Given the description of an element on the screen output the (x, y) to click on. 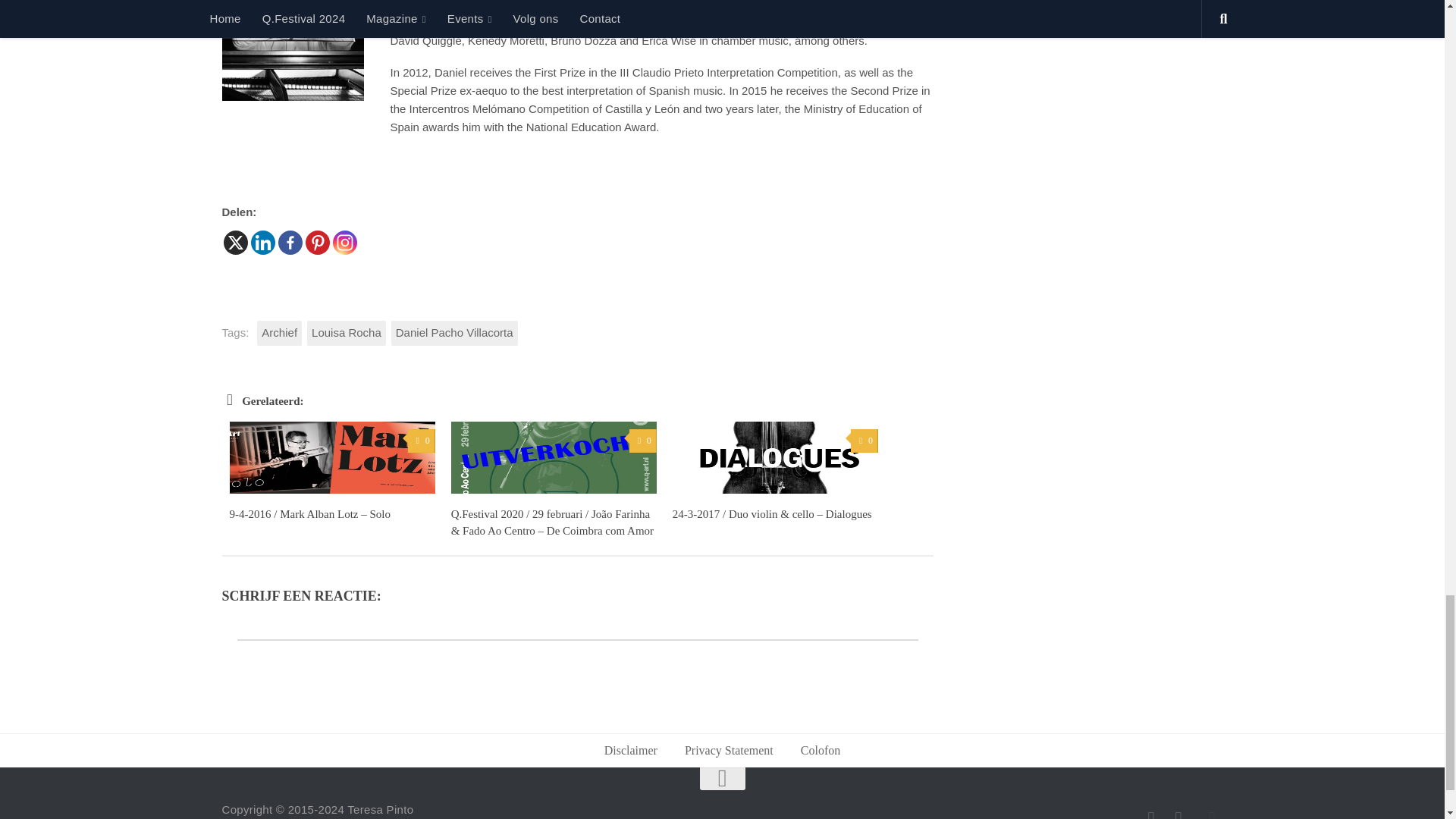
Pinterest (316, 242)
0 (863, 440)
Facebook (289, 242)
Daniel Pacho Villacorta (454, 333)
Louisa Rocha (346, 333)
0 (420, 440)
Instagram (343, 242)
Archief (279, 333)
X (234, 242)
0 (642, 440)
Linkedin (262, 242)
